Given the description of an element on the screen output the (x, y) to click on. 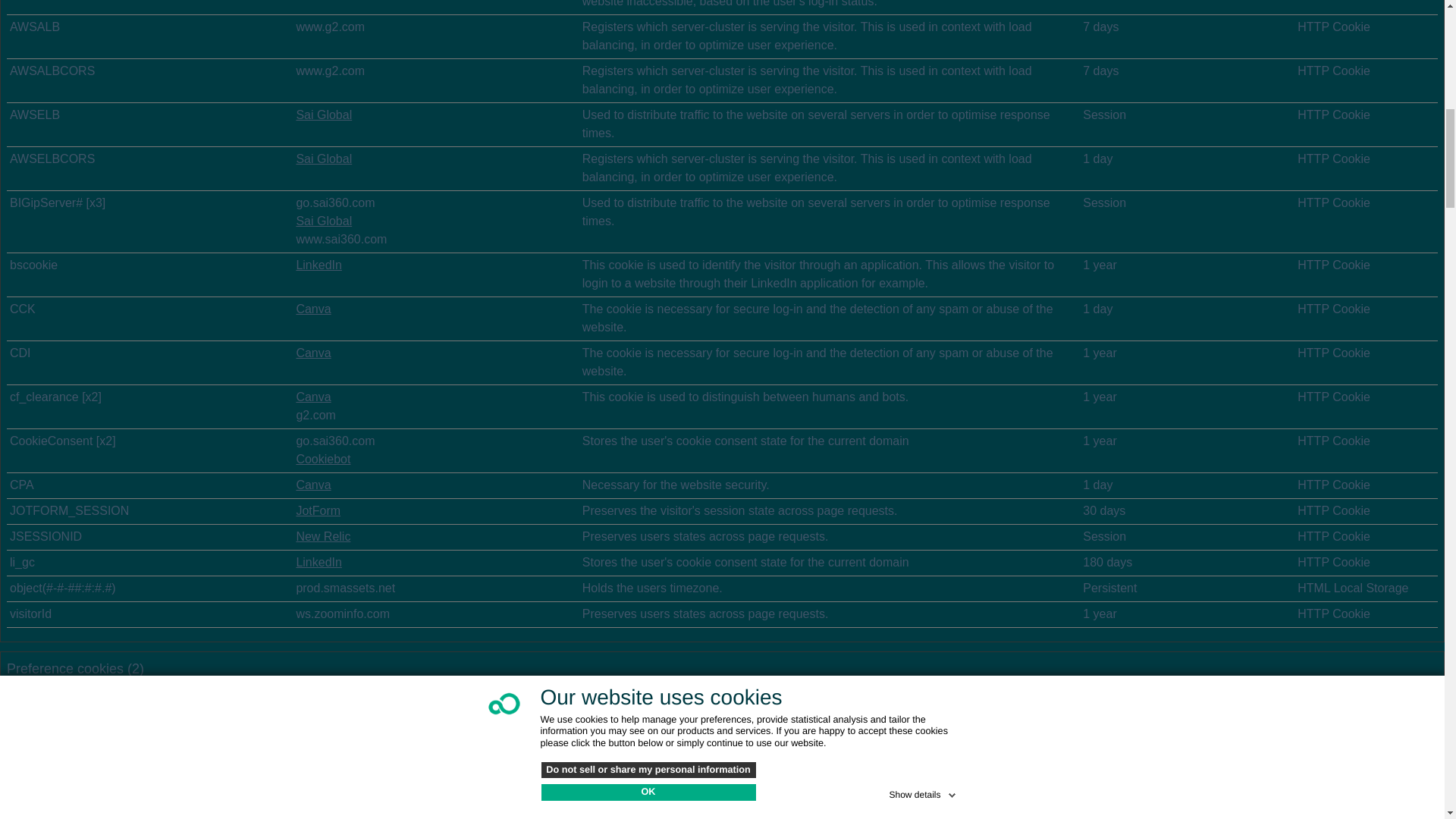
Sai Global's privacy policy (323, 158)
Sai Global (323, 114)
Sai Global (323, 158)
Cookiebot (322, 459)
LinkedIn's privacy policy (318, 264)
Canva (312, 396)
Canva's privacy policy (312, 308)
Cookiebot's privacy policy (322, 459)
JotForm (317, 510)
Canva's privacy policy (312, 352)
Canva's privacy policy (312, 484)
Canva (312, 308)
Canva (312, 484)
LinkedIn (318, 562)
Canva's privacy policy (312, 396)
